Given the description of an element on the screen output the (x, y) to click on. 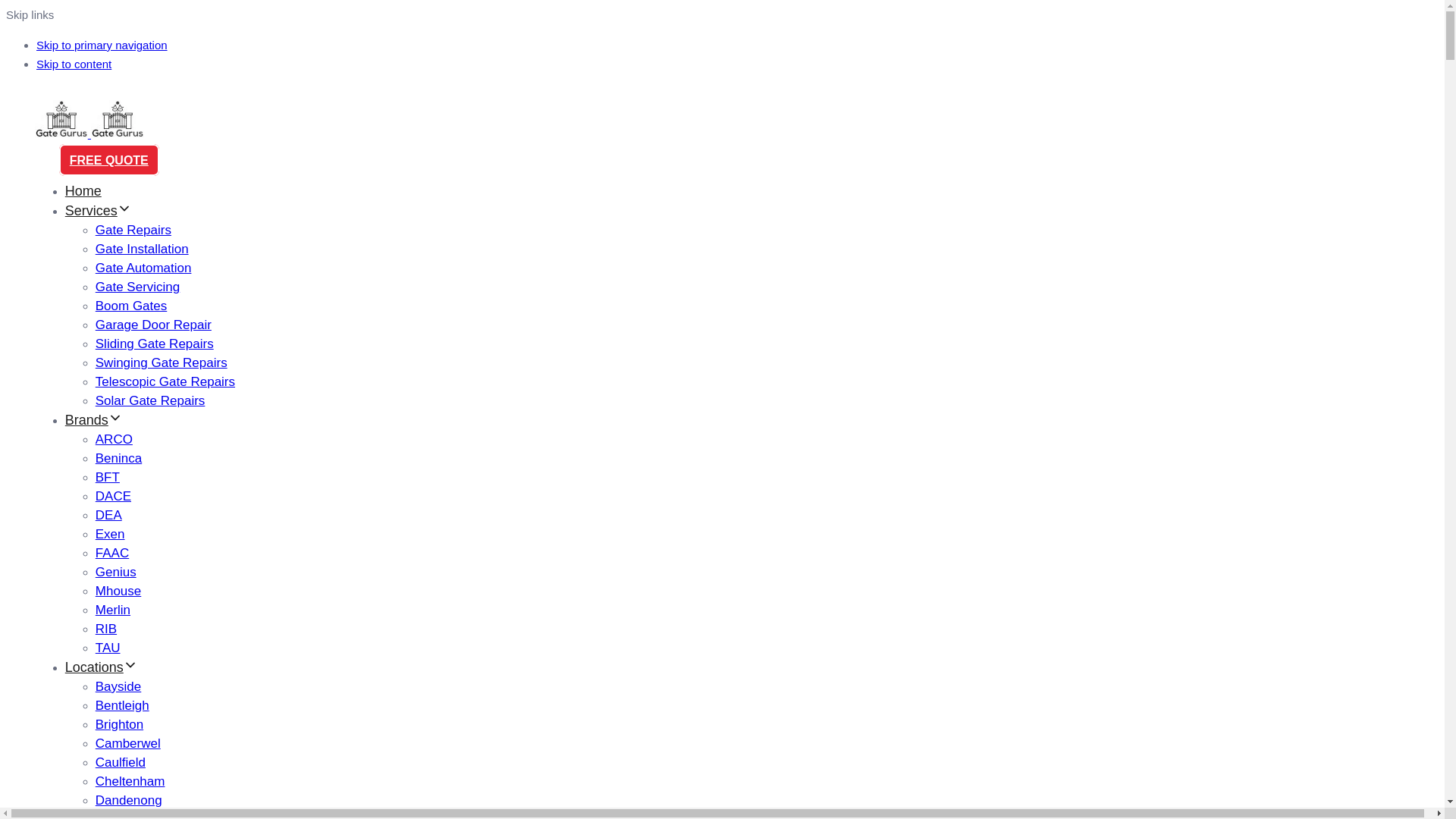
Sliding Gate Repairs Element type: text (154, 343)
BFT Element type: text (107, 477)
Locations Element type: text (101, 666)
Solar Gate Repairs Element type: text (150, 400)
Merlin Element type: text (112, 609)
RIB Element type: text (105, 628)
Bentleigh Element type: text (122, 705)
Skip to primary navigation Element type: text (101, 44)
Caulfield Element type: text (120, 762)
TAU Element type: text (107, 647)
Gate Automation Element type: text (143, 267)
Dandenong Element type: text (128, 800)
DACE Element type: text (113, 496)
FREE QUOTE Element type: text (109, 159)
Services Element type: text (98, 210)
Skip to content Element type: text (73, 63)
Gate Installation Element type: text (141, 248)
DEA Element type: text (108, 515)
Bayside Element type: text (118, 686)
Beninca Element type: text (118, 458)
Garage Door Repair Element type: text (153, 324)
Gate Repairs Element type: text (133, 229)
Brands Element type: text (93, 419)
Exen Element type: text (110, 534)
FAAC Element type: text (111, 553)
Mhouse Element type: text (118, 590)
Camberwel Element type: text (127, 743)
Gate Servicing Element type: text (137, 286)
Home Element type: text (83, 190)
Boom Gates Element type: text (131, 305)
Cheltenham Element type: text (130, 781)
Telescopic Gate Repairs Element type: text (165, 381)
ARCO Element type: text (113, 439)
Genius Element type: text (115, 571)
Swinging Gate Repairs Element type: text (161, 362)
Brighton Element type: text (119, 724)
